Given the description of an element on the screen output the (x, y) to click on. 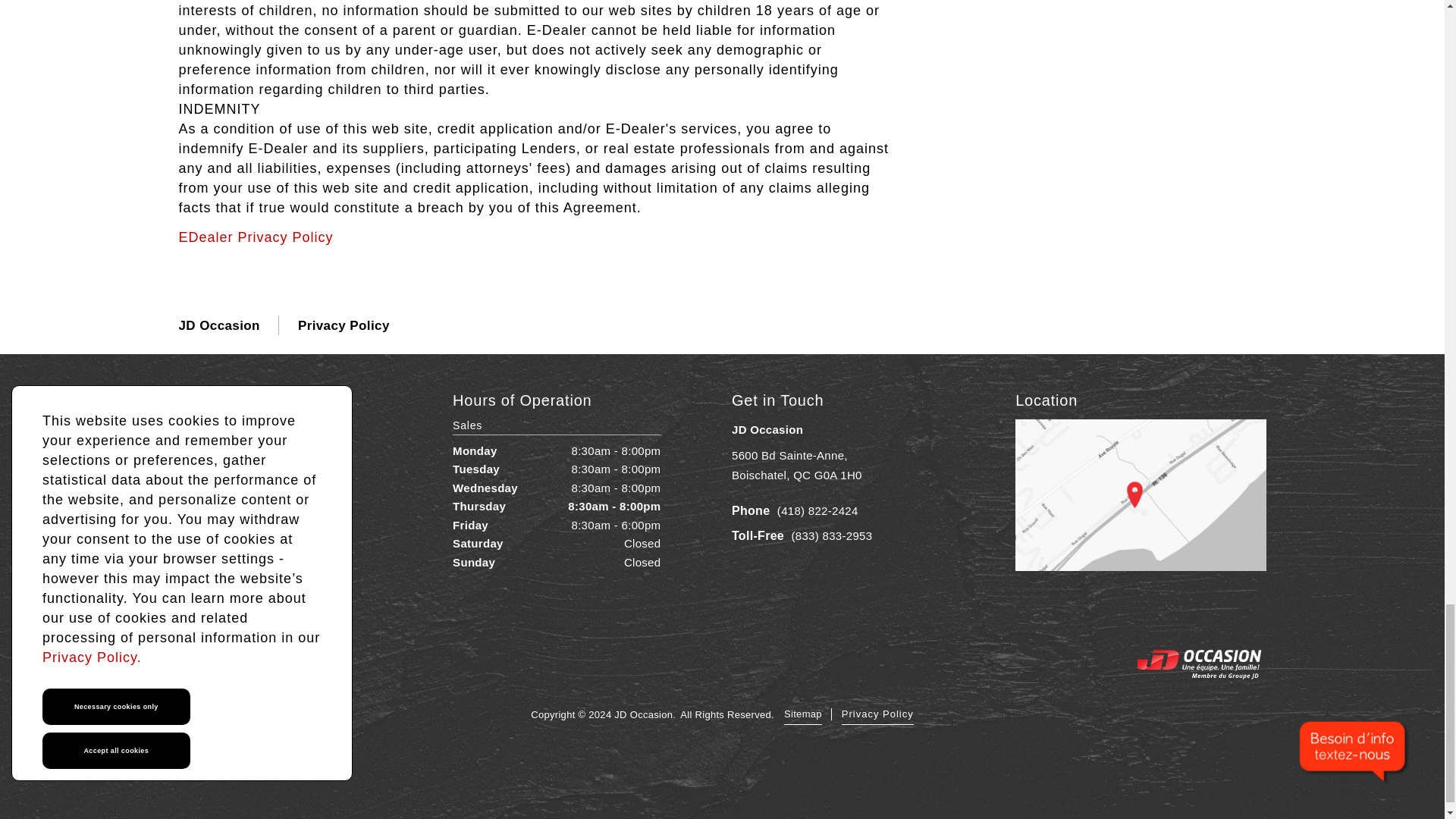
Apply for Credit (257, 479)
Go to JD Occasion. (219, 325)
Privacy Policy (877, 713)
Our Team (257, 554)
Sitemap (803, 713)
Reviews (257, 504)
Second Chance Financing (257, 455)
Sitemap (803, 713)
About Us (257, 529)
EDealer Privacy Policy (796, 464)
Our Inventory (256, 237)
Privacy Policy (257, 429)
Powered by EDealer (877, 713)
Location Image Map (721, 769)
